Given the description of an element on the screen output the (x, y) to click on. 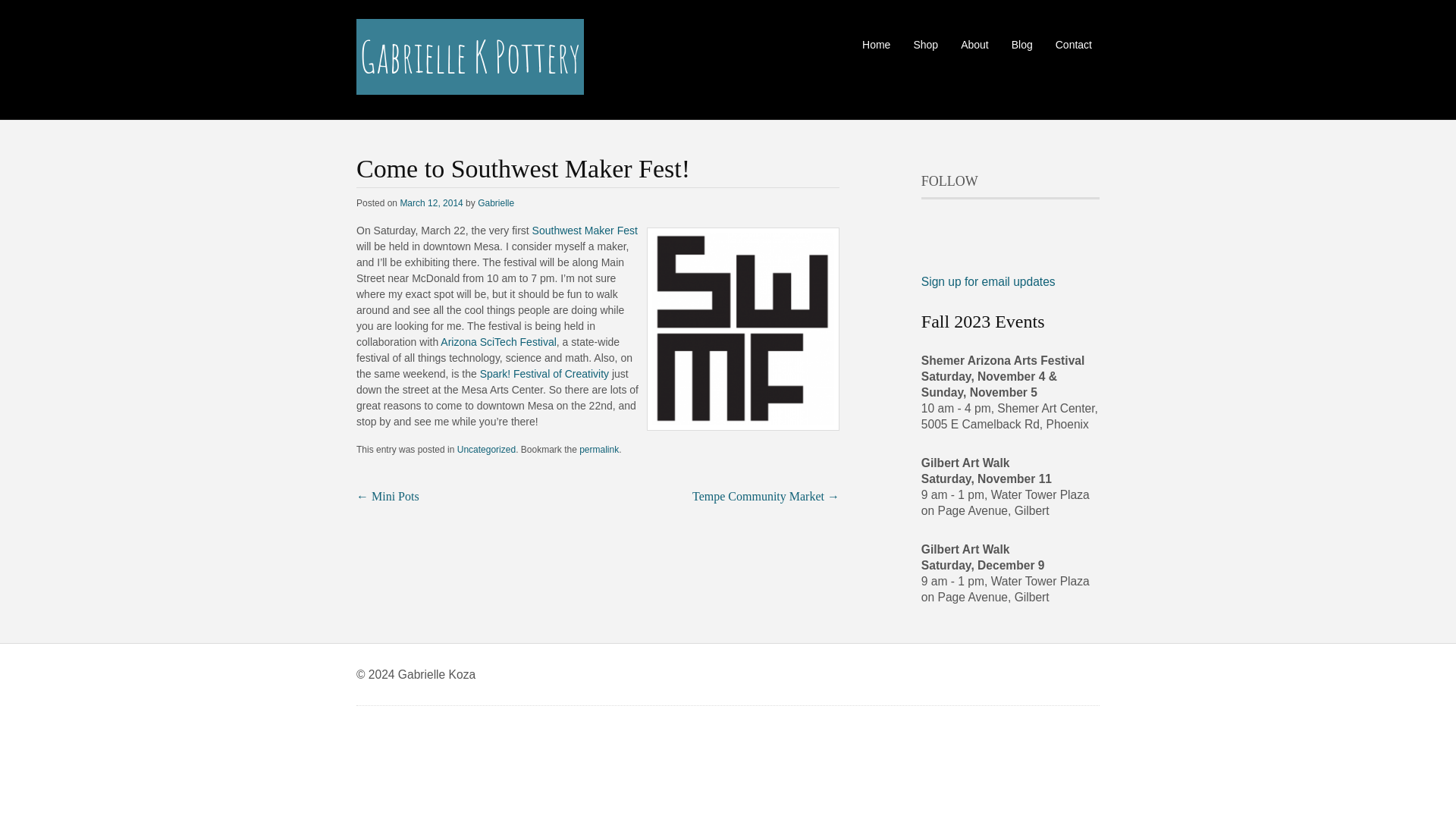
Sign up for email updates (988, 281)
permalink (598, 449)
Blog (1022, 44)
Contact (1073, 44)
Shop (924, 44)
Uncategorized (486, 449)
Southwest Maker Fest (584, 230)
Gabrielle Koza (469, 83)
View all posts by Gabrielle (495, 203)
Permalink to Come to Southwest Maker Fest! (598, 449)
